Given the description of an element on the screen output the (x, y) to click on. 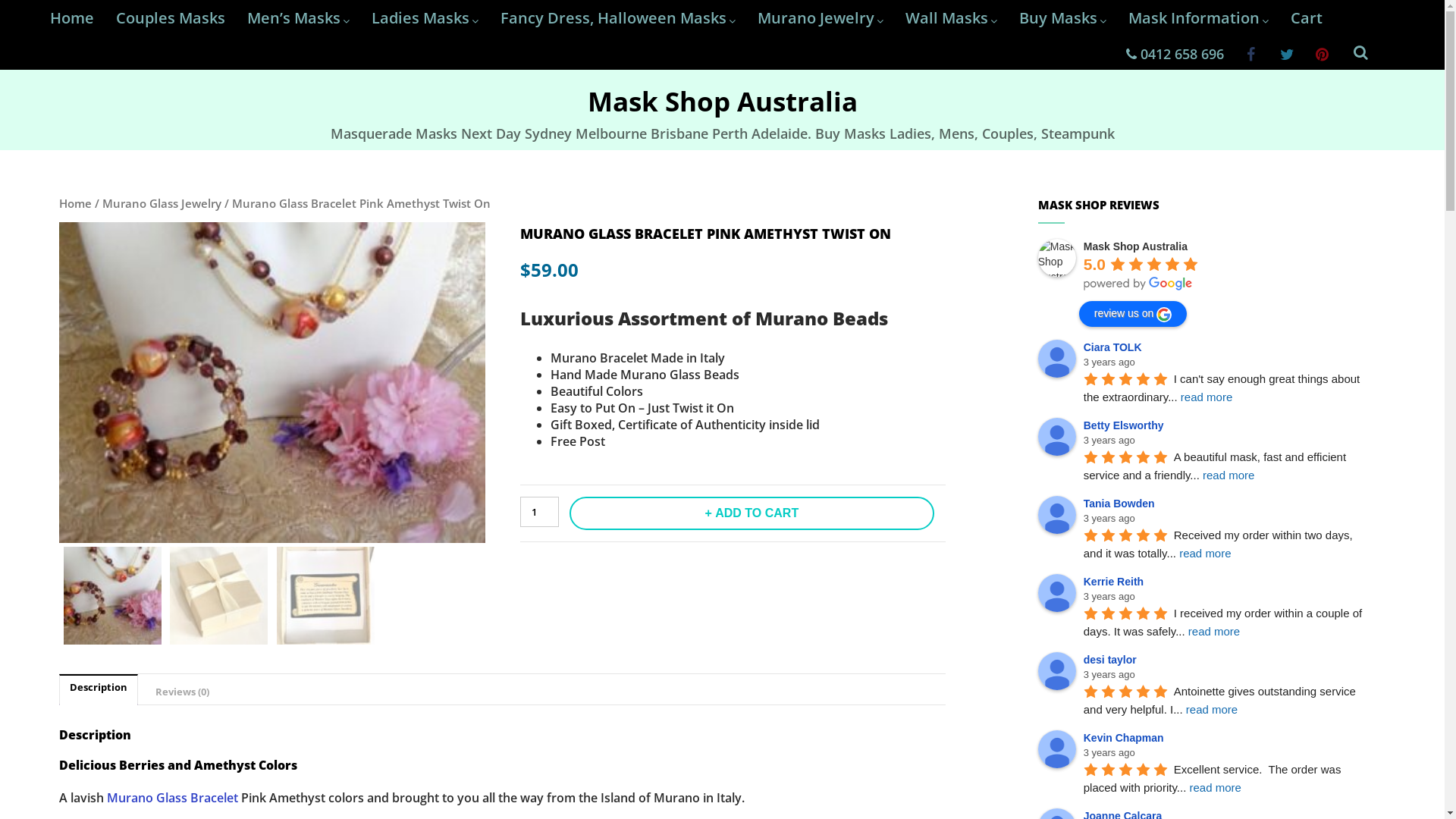
Wall Masks Element type: text (951, 17)
Fancy Dress, Halloween Masks Element type: text (617, 17)
Mask Information Element type: text (1198, 17)
Kevin Chapman Element type: hover (1057, 749)
powered by Google Element type: hover (1137, 283)
Ciara TOLK Element type: text (1114, 347)
Murano Glass Jewelry Gift Box Element type: hover (697, 435)
ADD TO CART Element type: text (751, 513)
Reviews (0) Element type: text (182, 691)
Kerrie Reith Element type: hover (1057, 592)
Couples Masks Element type: text (170, 17)
Tania Bowden Element type: text (1121, 503)
Home Element type: text (72, 17)
Description Element type: text (98, 687)
Betty Elsworthy Element type: text (1125, 425)
review us on Element type: text (1133, 313)
Home Element type: text (75, 202)
Murano Glass Jewelry Element type: text (161, 202)
Mask Shop Australia Element type: text (1135, 246)
Kerrie Reith Element type: text (1115, 581)
Mask Shop Australia Element type: text (721, 101)
desi taylor Element type: hover (1057, 671)
desi taylor Element type: text (1112, 659)
Murano Glass Bracelet Element type: text (172, 797)
Kevin Chapman Element type: text (1125, 737)
Betty Elsworthy Element type: hover (1057, 436)
Ladies Masks Element type: text (424, 17)
Ciara TOLK Element type: hover (1057, 358)
Cart Element type: text (1306, 17)
Buy Masks Element type: text (1062, 17)
Tania Bowden Element type: hover (1057, 514)
Murano Glass Bracelet Gypsy Berry Element type: hover (271, 382)
Murano Jewelry Element type: text (820, 17)
Mask Shop Australia Element type: hover (1057, 257)
